Given the description of an element on the screen output the (x, y) to click on. 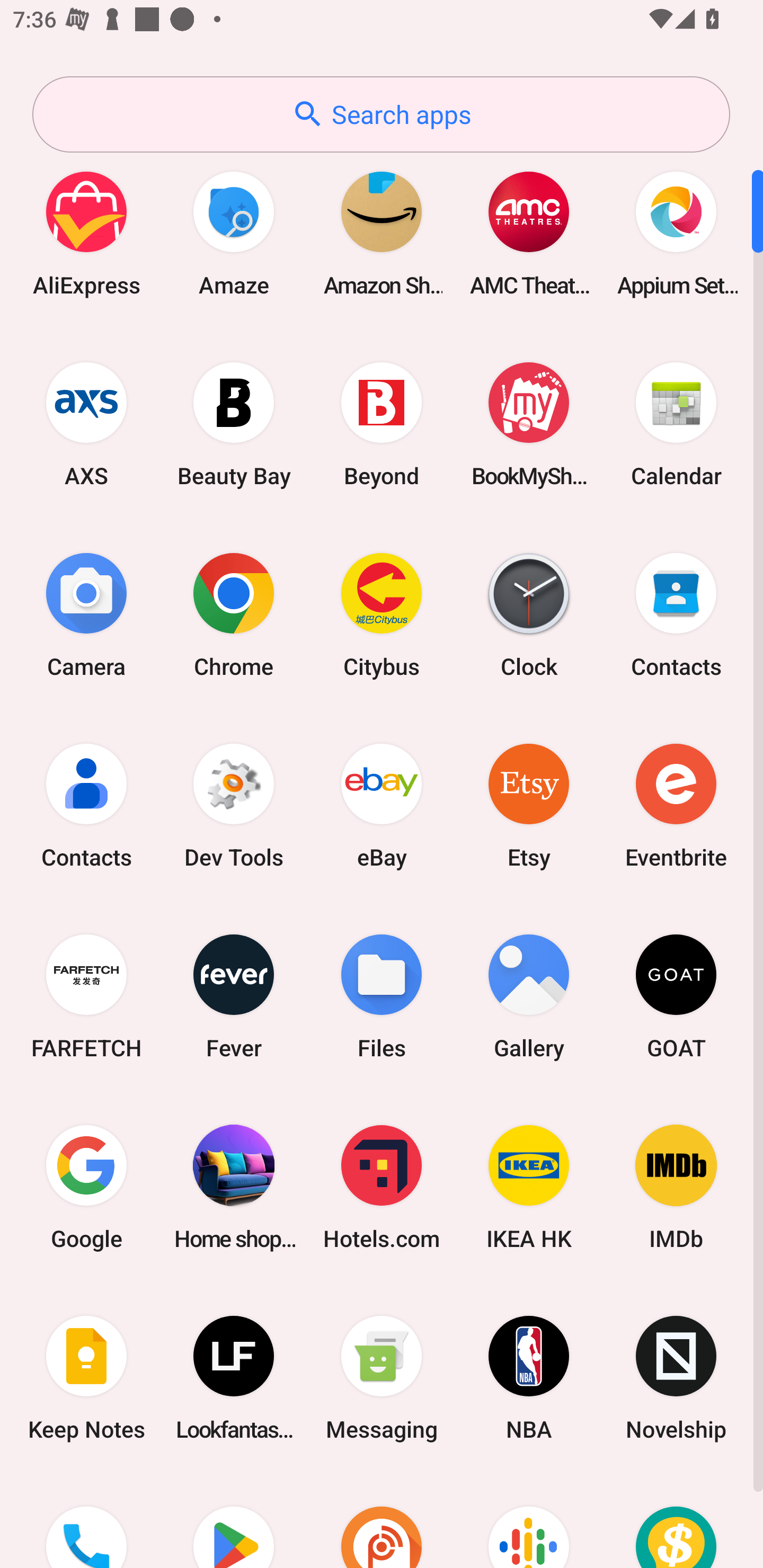
  Search apps (381, 114)
AliExpress (86, 233)
Amaze (233, 233)
Amazon Shopping (381, 233)
AMC Theatres (528, 233)
Appium Settings (676, 233)
AXS (86, 424)
Beauty Bay (233, 424)
Beyond (381, 424)
BookMyShow (528, 424)
Calendar (676, 424)
Camera (86, 614)
Chrome (233, 614)
Citybus (381, 614)
Clock (528, 614)
Contacts (676, 614)
Contacts (86, 805)
Dev Tools (233, 805)
eBay (381, 805)
Etsy (528, 805)
Eventbrite (676, 805)
FARFETCH (86, 996)
Fever (233, 996)
Files (381, 996)
Gallery (528, 996)
GOAT (676, 996)
Google (86, 1186)
Home shopping (233, 1186)
Hotels.com (381, 1186)
IKEA HK (528, 1186)
IMDb (676, 1186)
Keep Notes (86, 1377)
Lookfantastic (233, 1377)
Messaging (381, 1377)
NBA (528, 1377)
Novelship (676, 1377)
Phone (86, 1520)
Play Store (233, 1520)
Podcast Addict (381, 1520)
Podcasts (528, 1520)
Price (676, 1520)
